Given the description of an element on the screen output the (x, y) to click on. 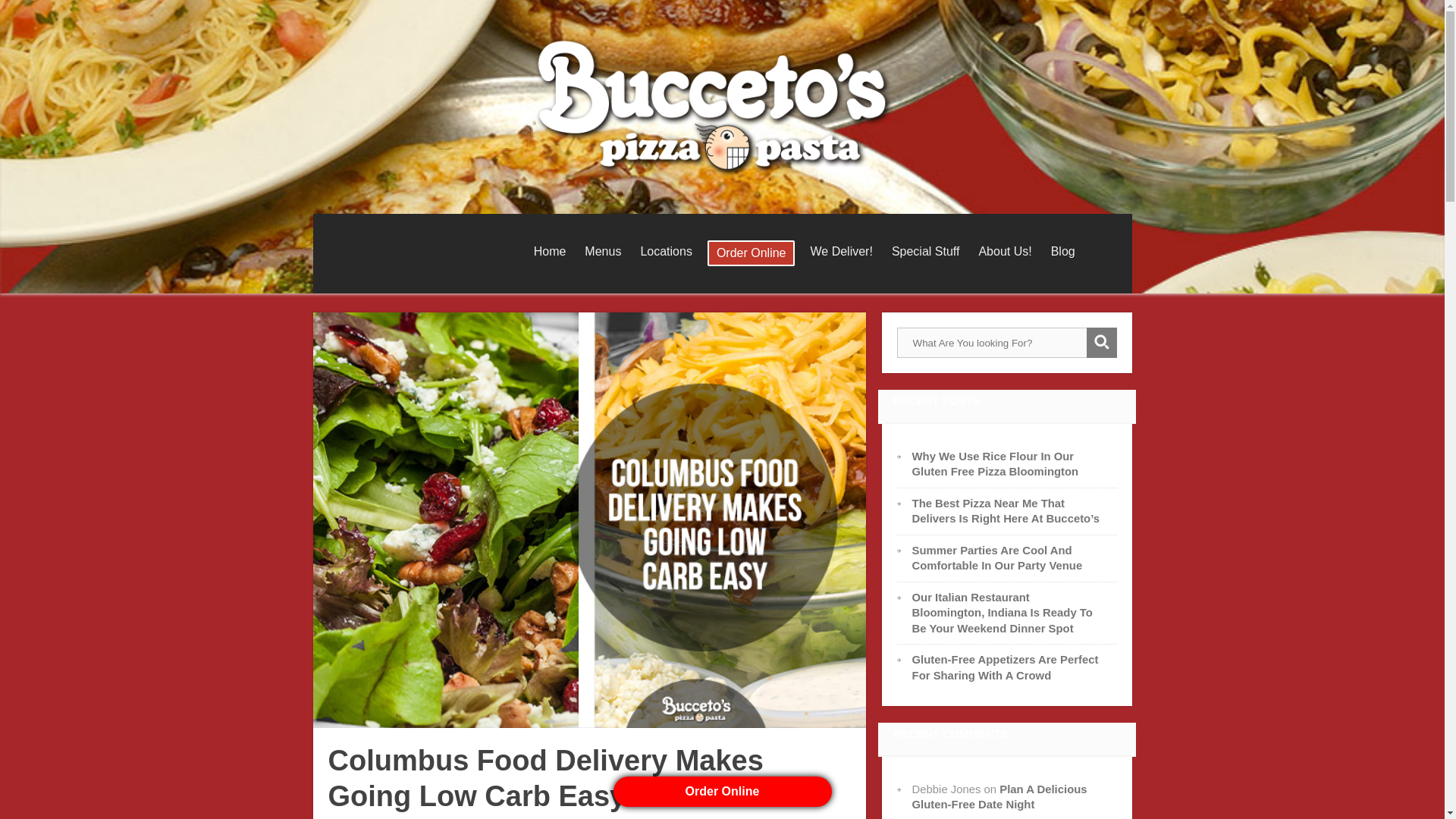
Order Online (750, 253)
Special Stuff (925, 251)
About Us! (1005, 251)
Menus (602, 251)
Plan A Delicious Gluten-Free Date Night (999, 796)
We Deliver! (840, 251)
Home (549, 251)
Summer Parties Are Cool And Comfortable In Our Party Venue (997, 557)
